Given the description of an element on the screen output the (x, y) to click on. 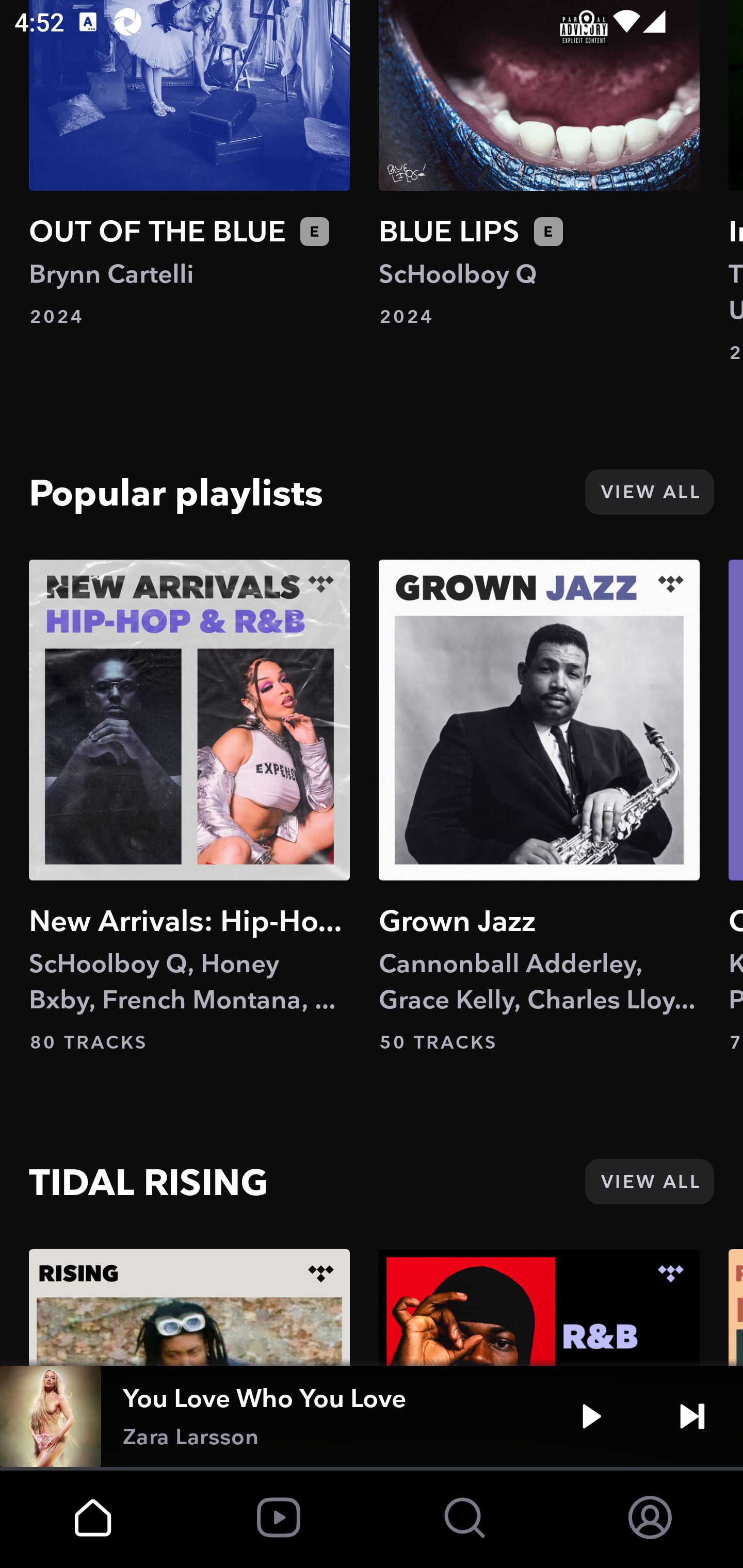
OUT OF THE BLUE Brynn Cartelli 2024 (188, 164)
BLUE LIPS ScHoolboy Q 2024 (538, 164)
VIEW ALL (649, 491)
VIEW ALL (649, 1181)
You Love Who You Love Zara Larsson Play (371, 1416)
Play (590, 1416)
